Given the description of an element on the screen output the (x, y) to click on. 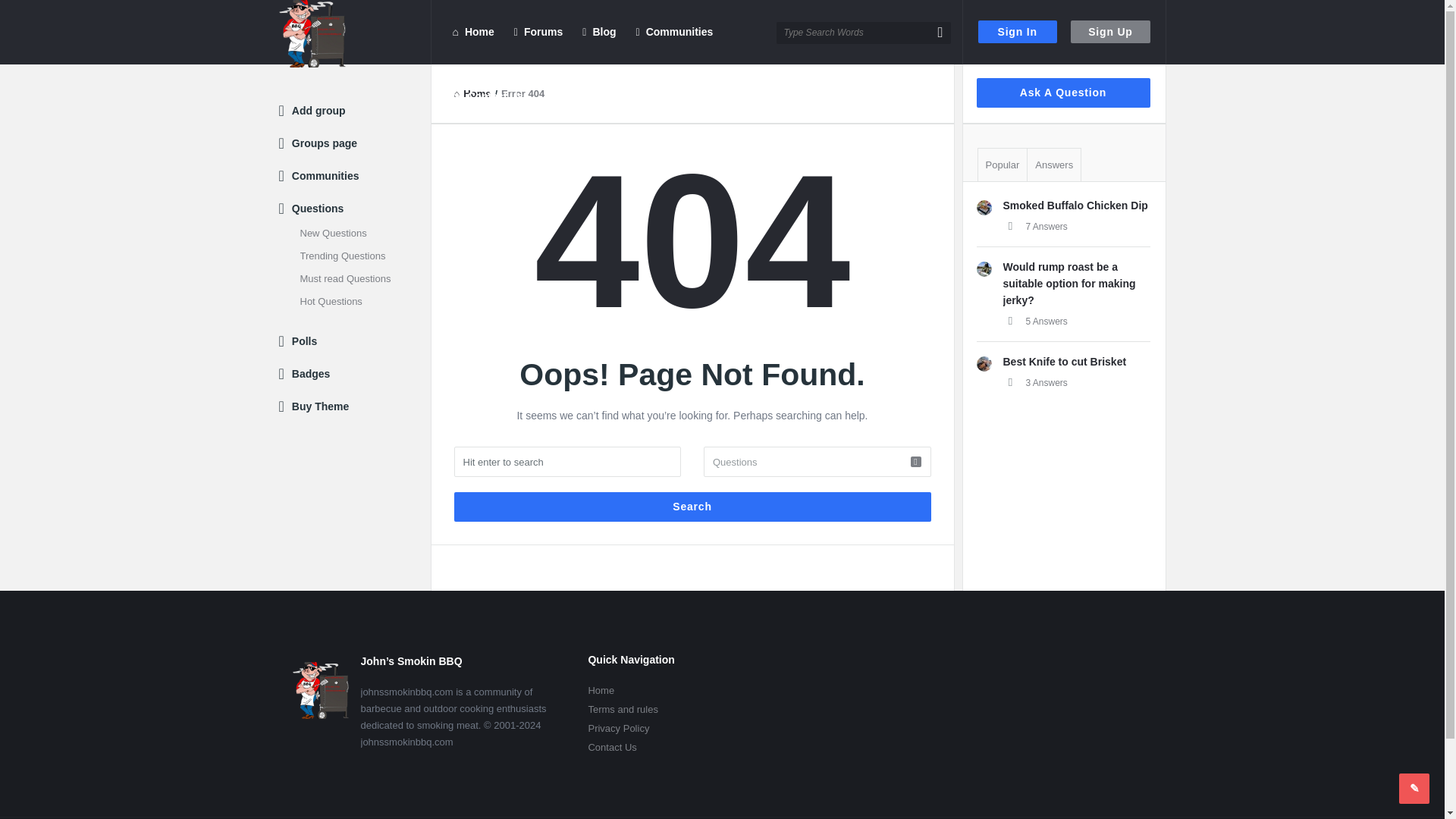
Hit enter to search (566, 461)
Sign In (1017, 31)
Communities (674, 32)
oldschoolbbq (983, 207)
Home (471, 93)
Forums (538, 32)
Home (472, 32)
Search (691, 506)
Best Knife to cut Brisket (1064, 361)
Ask a question (1414, 788)
